Given the description of an element on the screen output the (x, y) to click on. 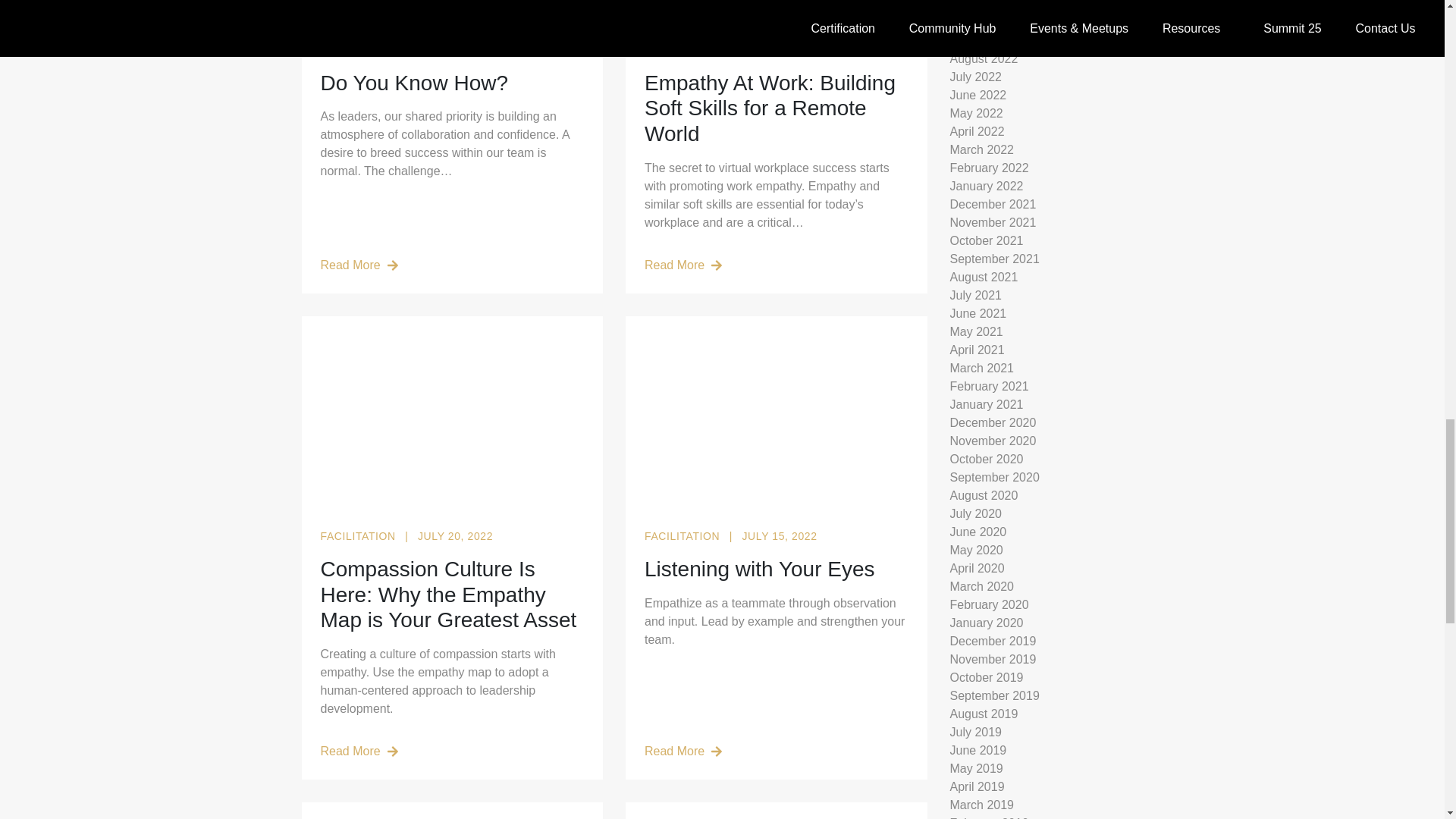
Read More (451, 265)
MEETING CULTURE (375, 50)
Empathy At Work: Building Soft Skills for a Remote World (776, 108)
Do You Know How? (451, 83)
MEETING CULTURE (700, 50)
